Given the description of an element on the screen output the (x, y) to click on. 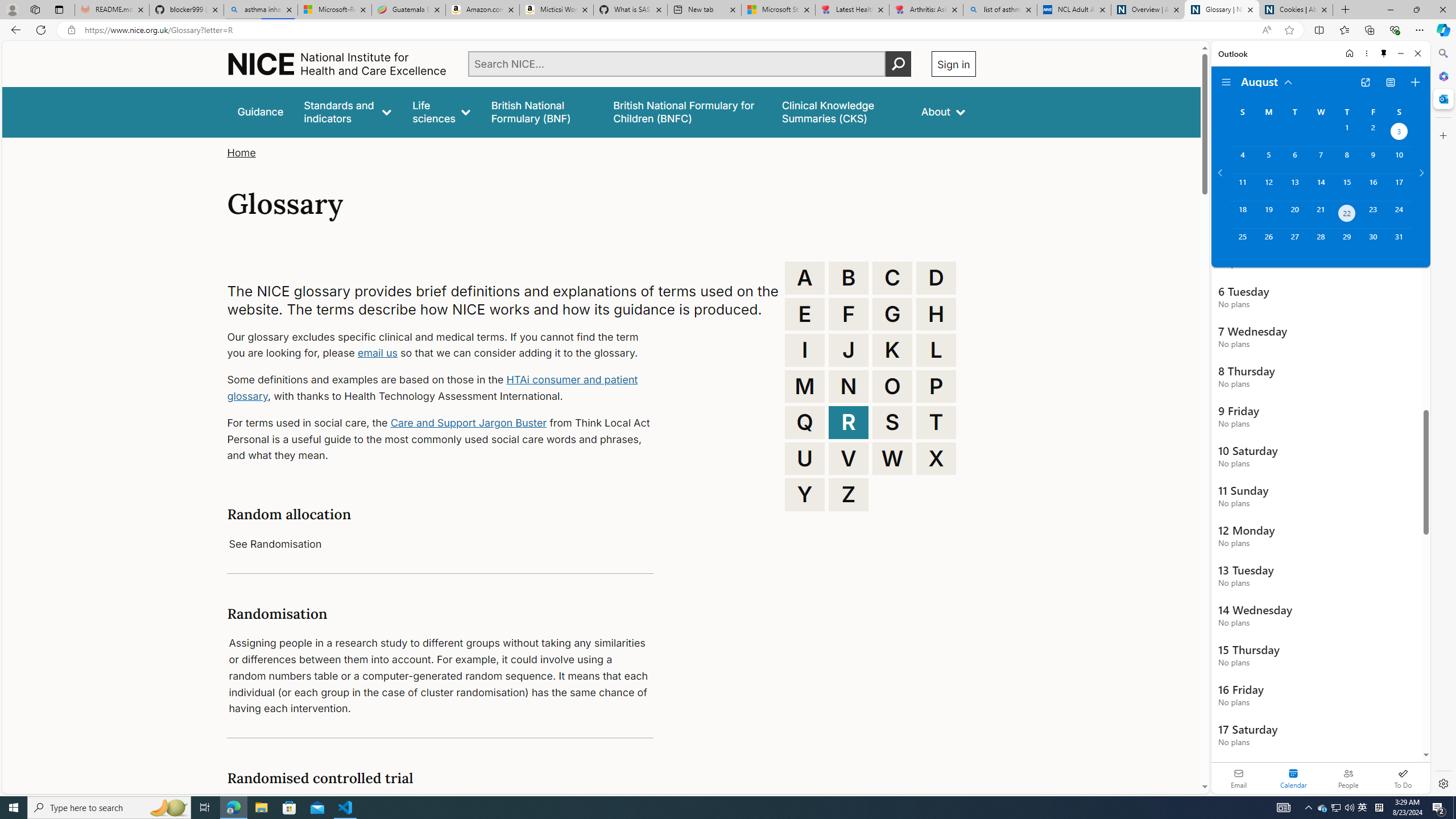
T (935, 422)
Random allocationSee Randomisation (440, 529)
Saturday, August 17, 2024.  (1399, 186)
Tuesday, August 13, 2024.  (1294, 186)
Monday, August 5, 2024.  (1268, 159)
About (942, 111)
X (935, 458)
U (804, 458)
Home (1348, 53)
HTAi consumer and patient glossary (432, 387)
asthma inhaler - Search (260, 9)
Collections (1369, 29)
C (892, 277)
Copilot (Ctrl+Shift+.) (1442, 29)
